Given the description of an element on the screen output the (x, y) to click on. 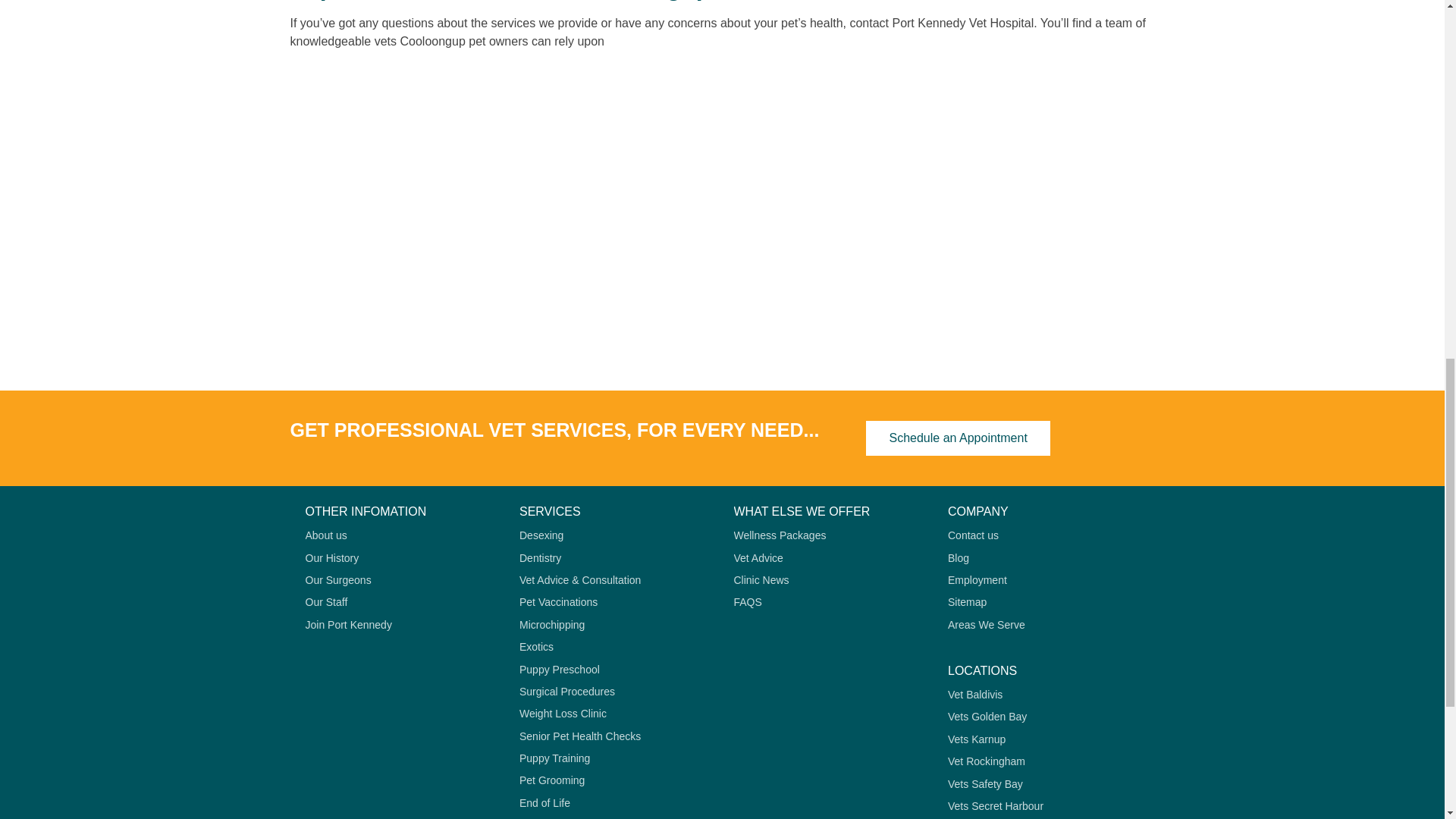
Our Surgeons (400, 580)
Our History (400, 558)
About us (400, 535)
Schedule an Appointment (957, 437)
